Given the description of an element on the screen output the (x, y) to click on. 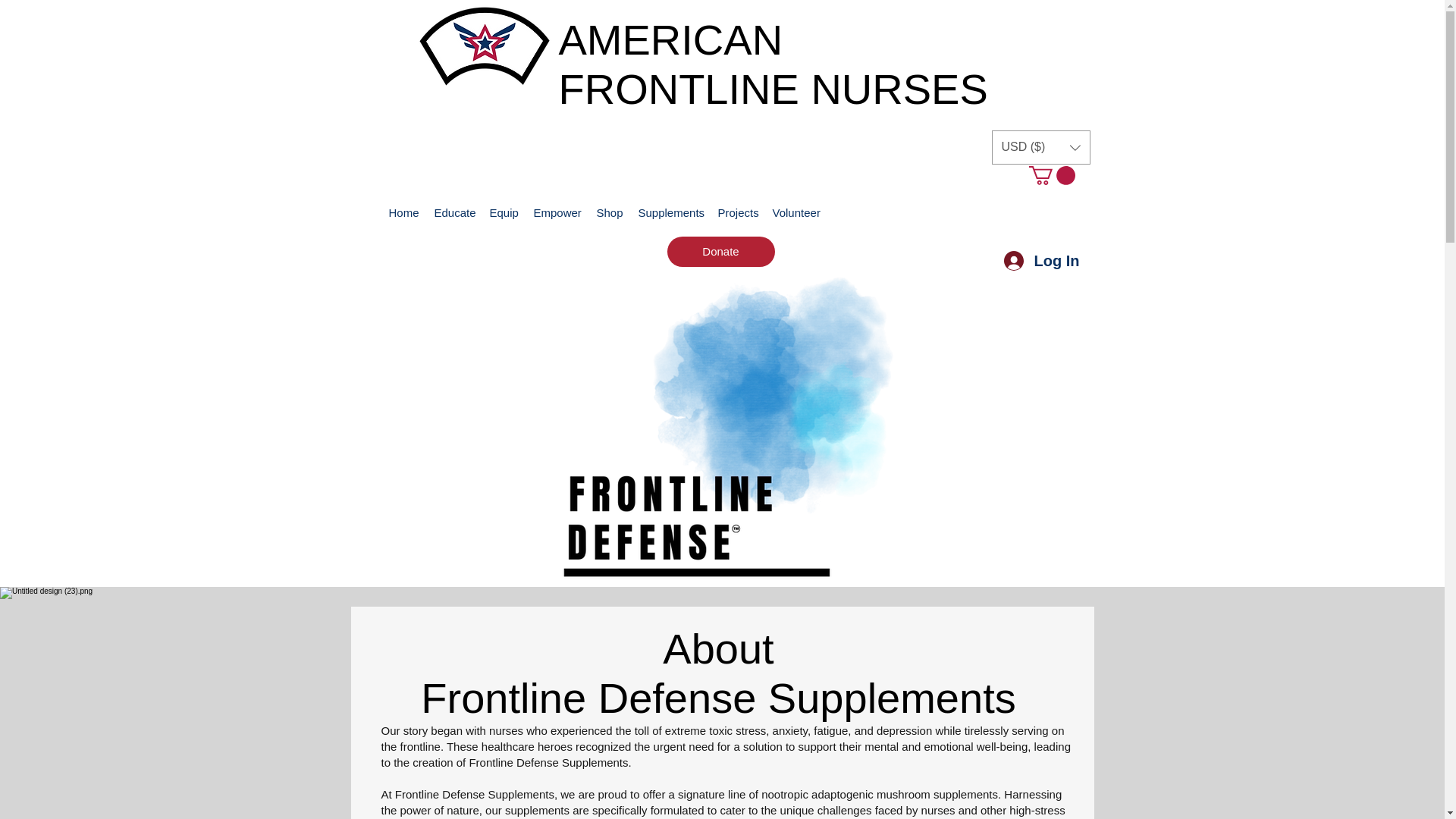
Projects (737, 213)
Supplements (670, 213)
Volunteer (795, 213)
Shop (609, 213)
Donate (720, 251)
Log In (1041, 260)
Home (403, 213)
